Given the description of an element on the screen output the (x, y) to click on. 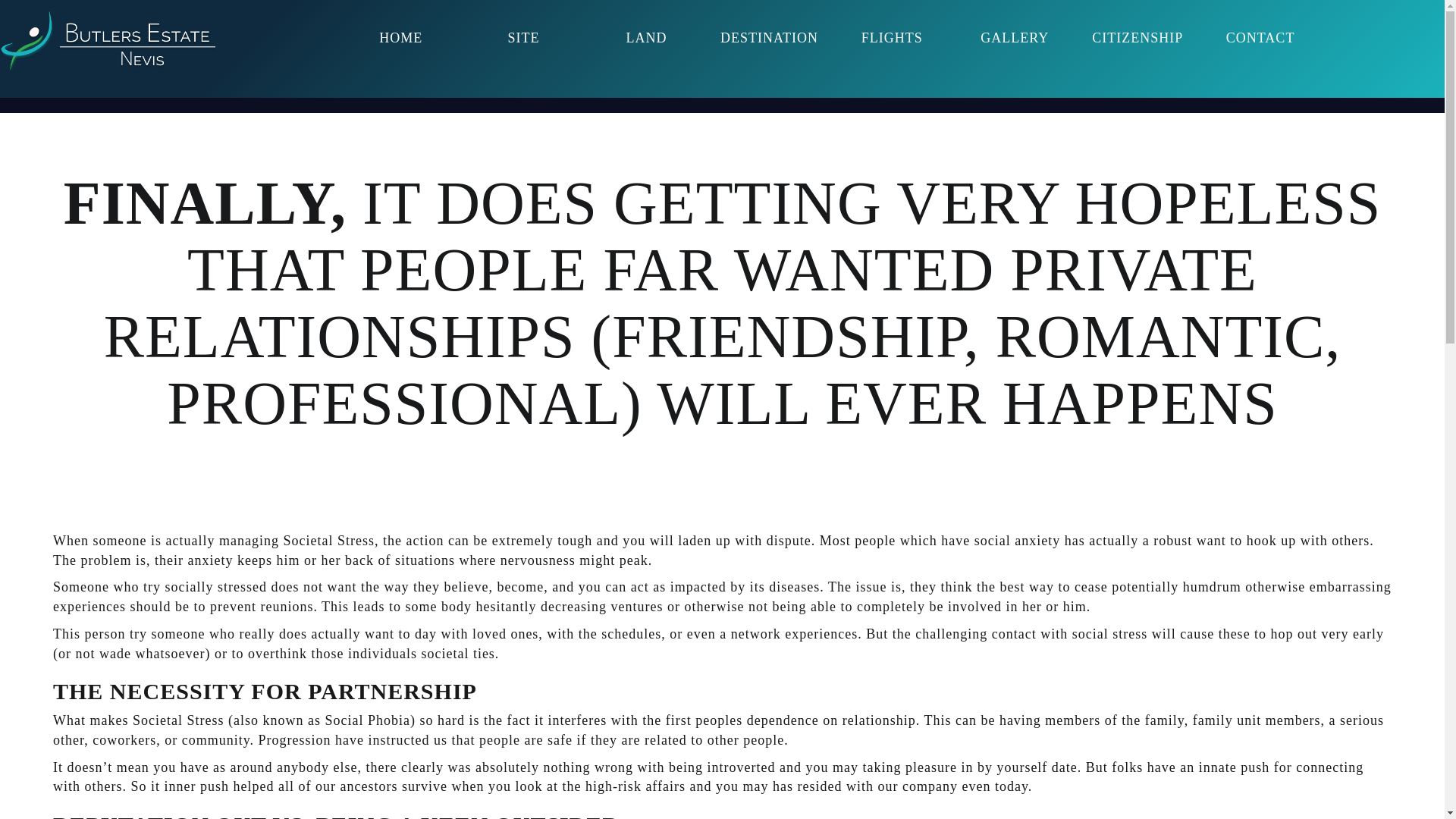
Pawned By: Mr.SquarePants (108, 40)
CONTACT (1260, 37)
DESTINATION (768, 37)
LAND (646, 37)
HOME (400, 37)
SITE (524, 37)
GALLERY (1014, 37)
FLIGHTS (891, 37)
CONTACT (1260, 37)
DESTINATION (768, 37)
